Given the description of an element on the screen output the (x, y) to click on. 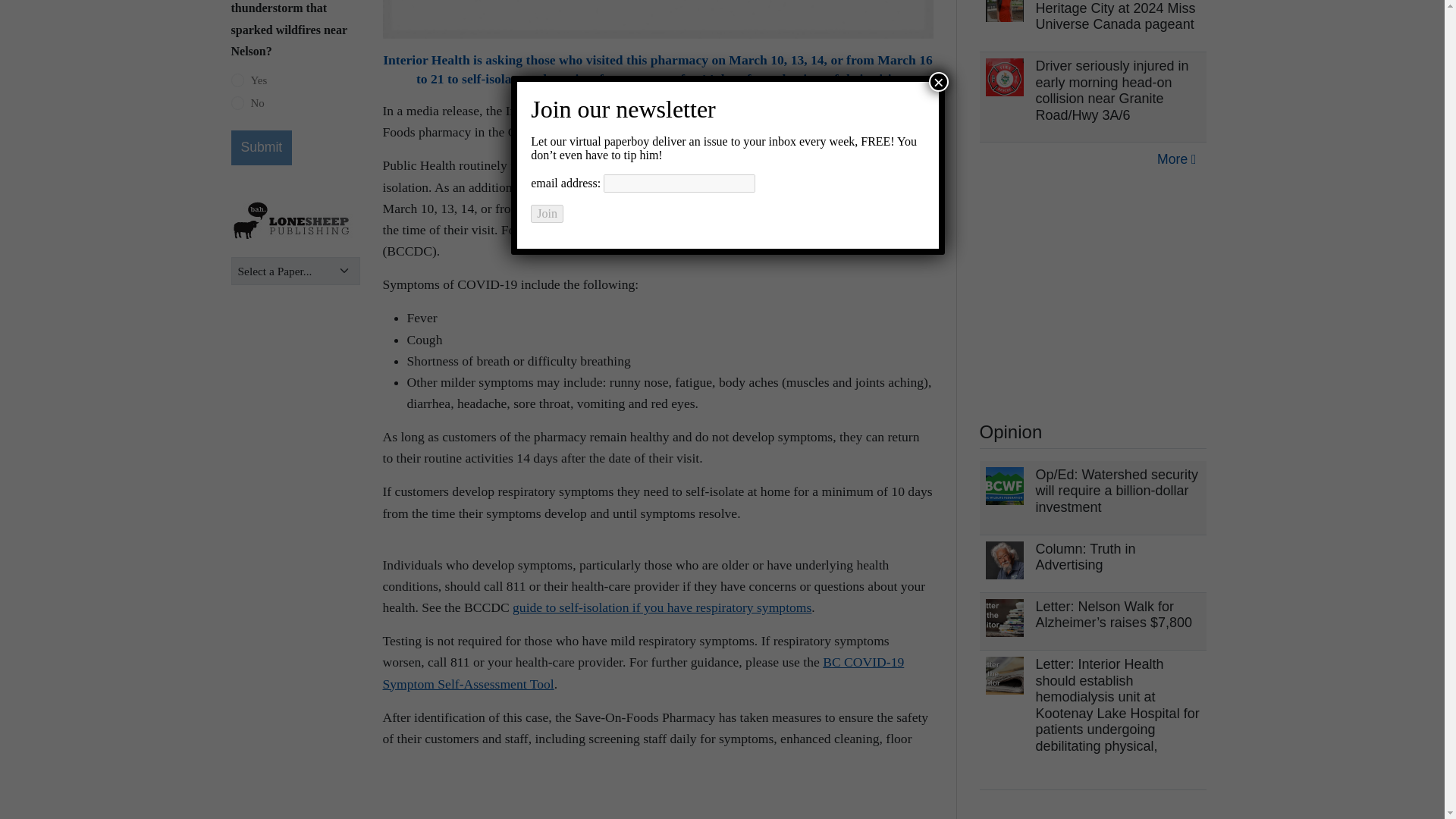
Submit (261, 147)
